Given the description of an element on the screen output the (x, y) to click on. 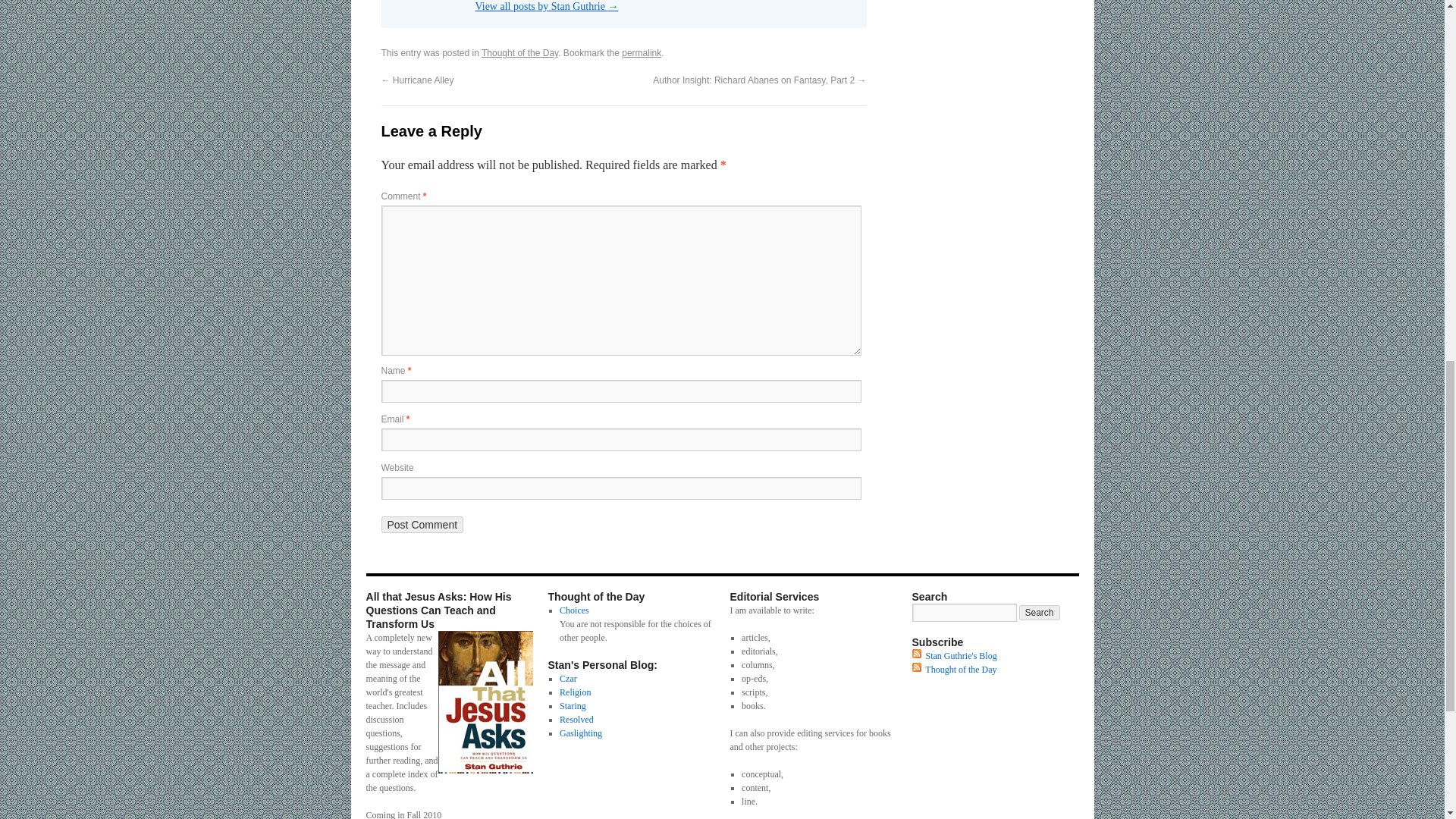
Permalink to Where was Jesse? (641, 52)
Post Comment (421, 524)
Post Comment (421, 524)
Permanent link to Choices (574, 610)
Choices (574, 610)
permalink (641, 52)
Thought of the Day (519, 52)
Search (1039, 612)
